Given the description of an element on the screen output the (x, y) to click on. 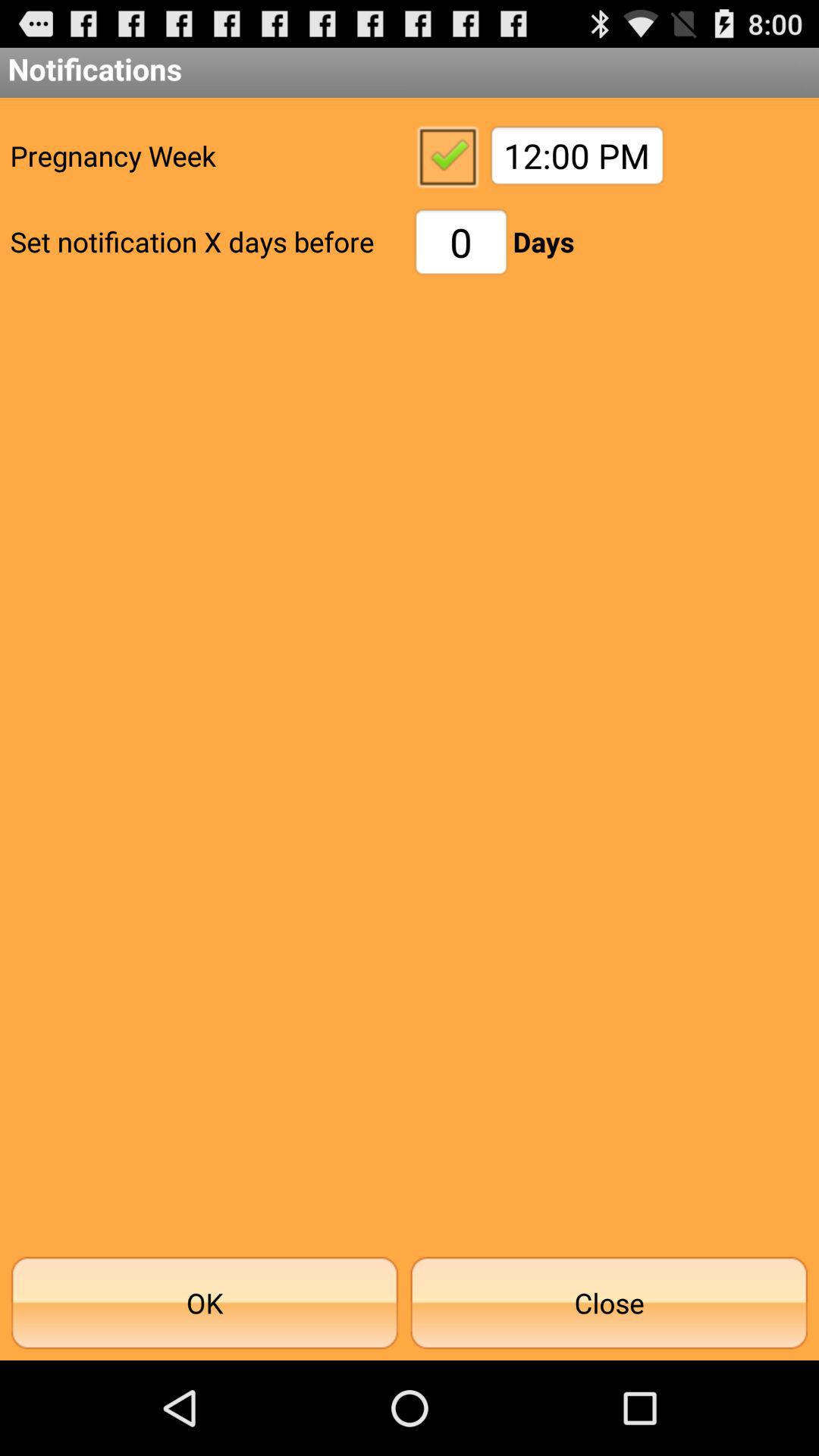
press icon to the left of 12:00 pm app (447, 155)
